Given the description of an element on the screen output the (x, y) to click on. 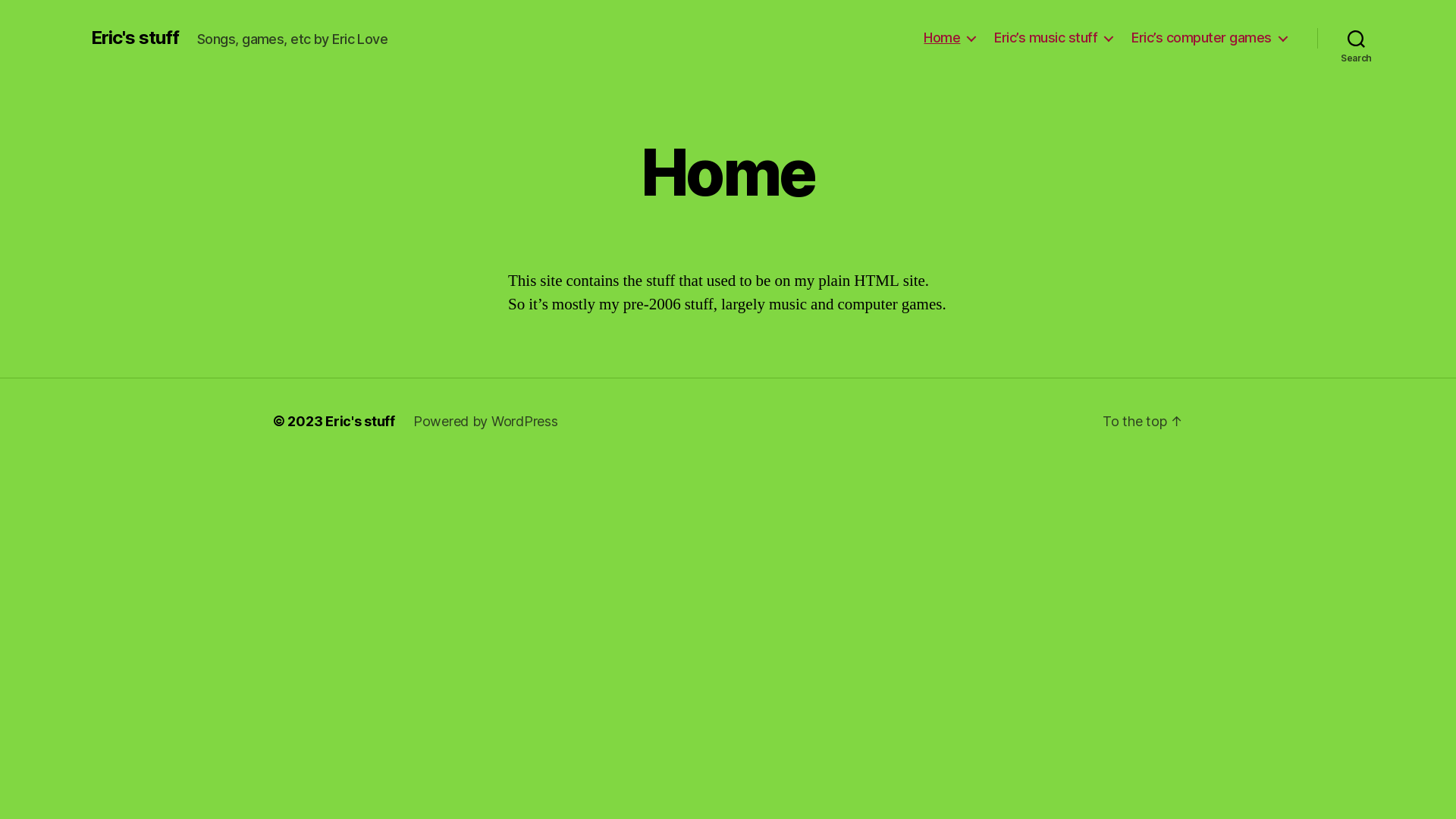
Home Element type: text (949, 37)
Eric's stuff Element type: text (134, 37)
Search Element type: text (1356, 37)
Powered by WordPress Element type: text (485, 421)
Eric's stuff Element type: text (360, 421)
